Given the description of an element on the screen output the (x, y) to click on. 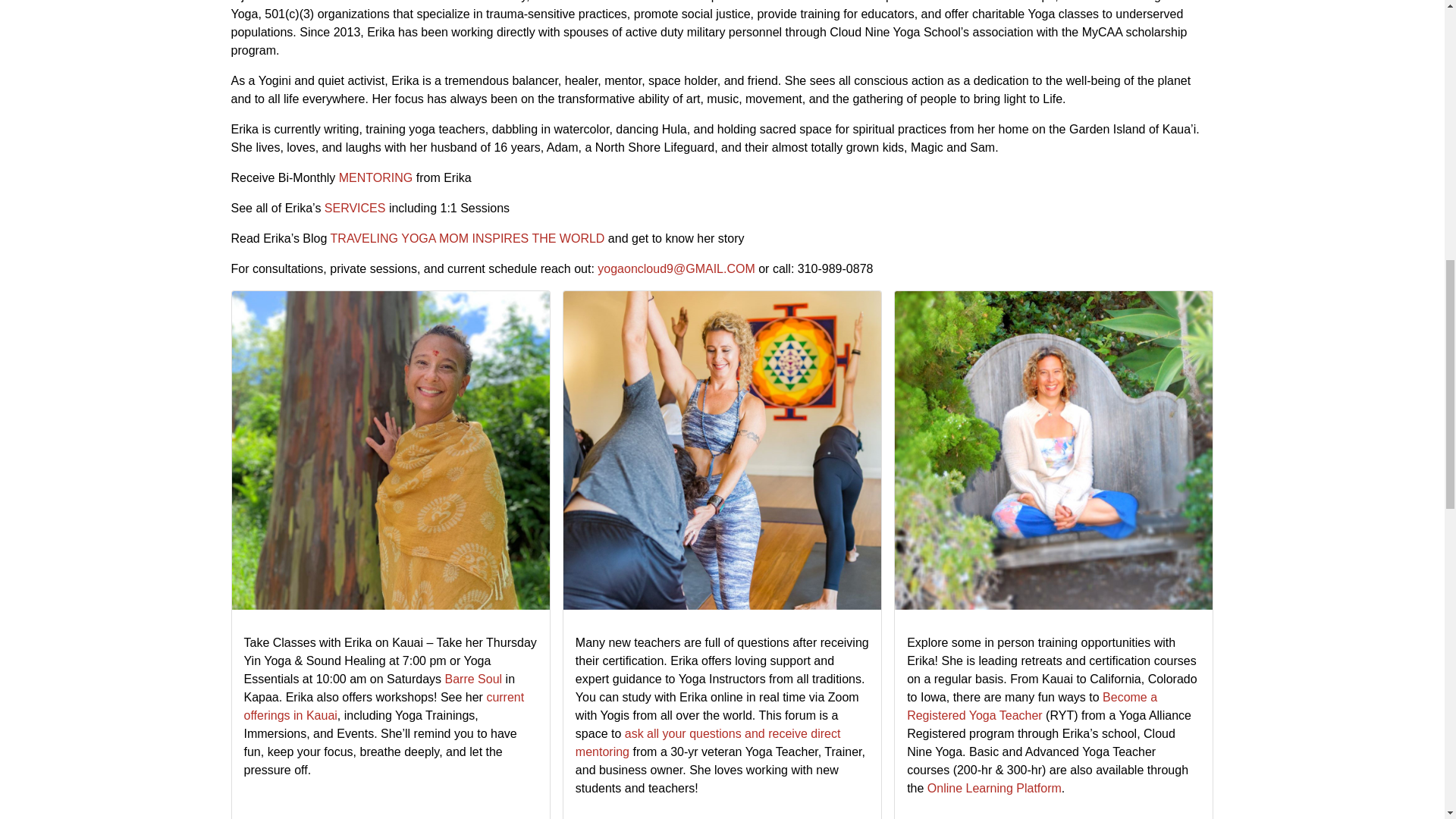
Become a Registered Yoga Teacher (1032, 706)
ask all your questions and receive direct mentoring (708, 742)
MENTORING (375, 177)
SERVICES (354, 207)
current offerings in Kauai (384, 706)
Online Learning Platform (994, 788)
Barre Soul (473, 678)
TRAVELING YOGA MOM INSPIRES THE WORLD (467, 237)
